Given the description of an element on the screen output the (x, y) to click on. 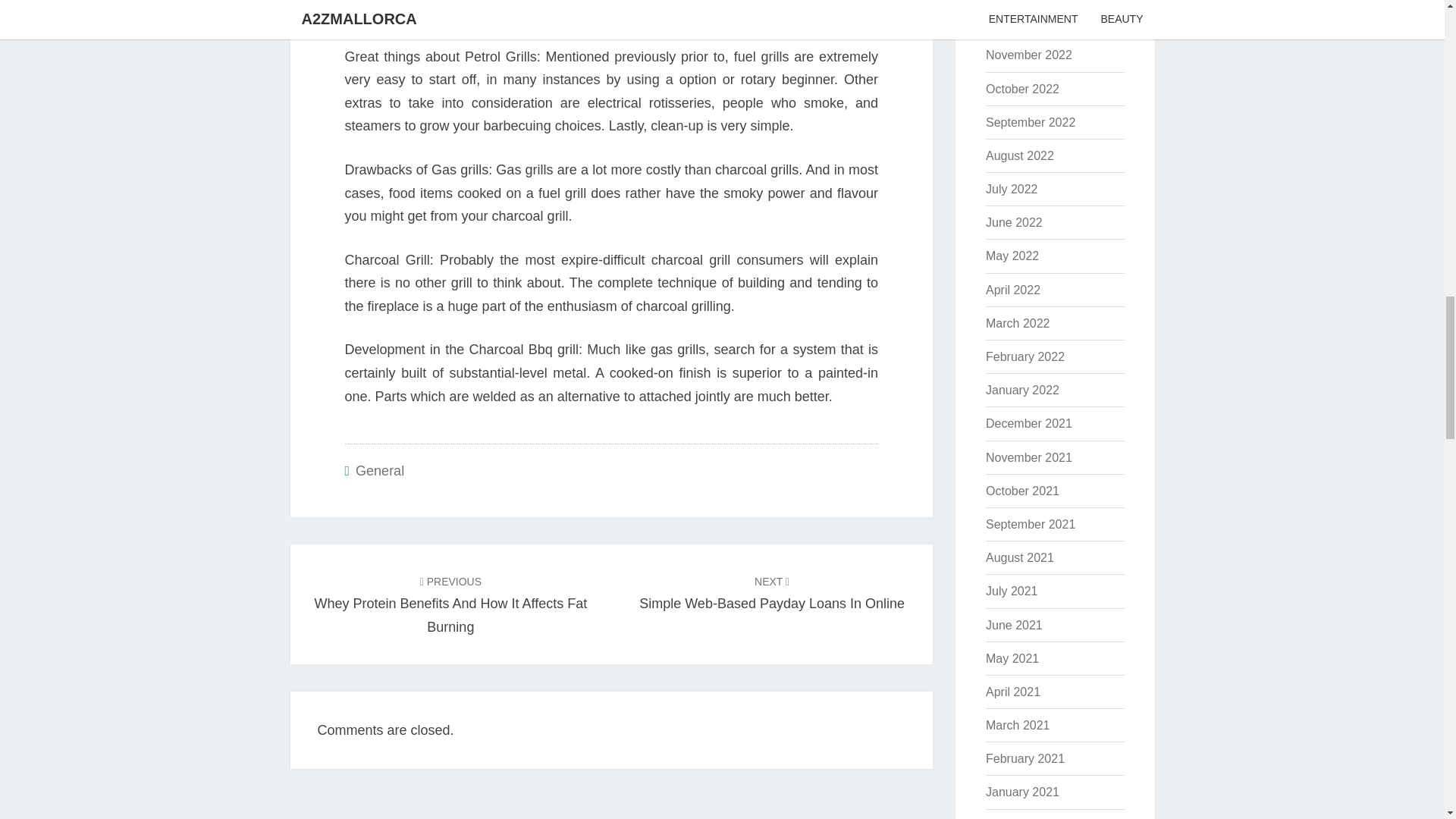
July 2022 (1011, 188)
best gas charcoal grill (671, 12)
General (379, 470)
November 2022 (771, 592)
September 2022 (1028, 54)
August 2022 (1030, 122)
October 2022 (1019, 155)
June 2022 (1022, 88)
May 2022 (1013, 222)
April 2022 (1012, 255)
December 2022 (1013, 289)
